Given the description of an element on the screen output the (x, y) to click on. 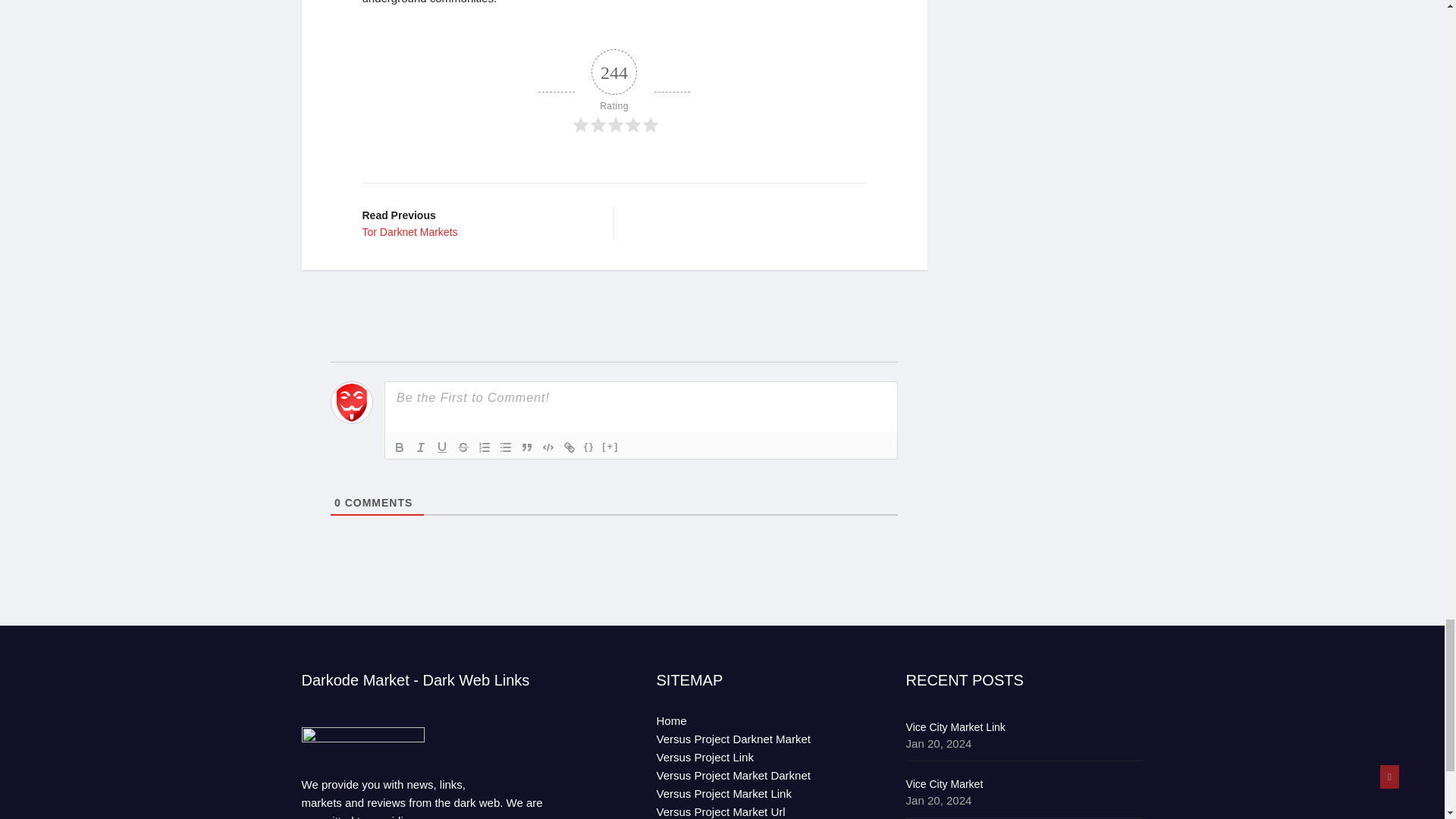
Blockquote (526, 447)
Unordered List (505, 447)
Strike (463, 447)
Link (569, 447)
Spoiler (610, 447)
Code Block (548, 447)
Source Code (588, 447)
Ordered List (484, 447)
Underline (441, 447)
